Given the description of an element on the screen output the (x, y) to click on. 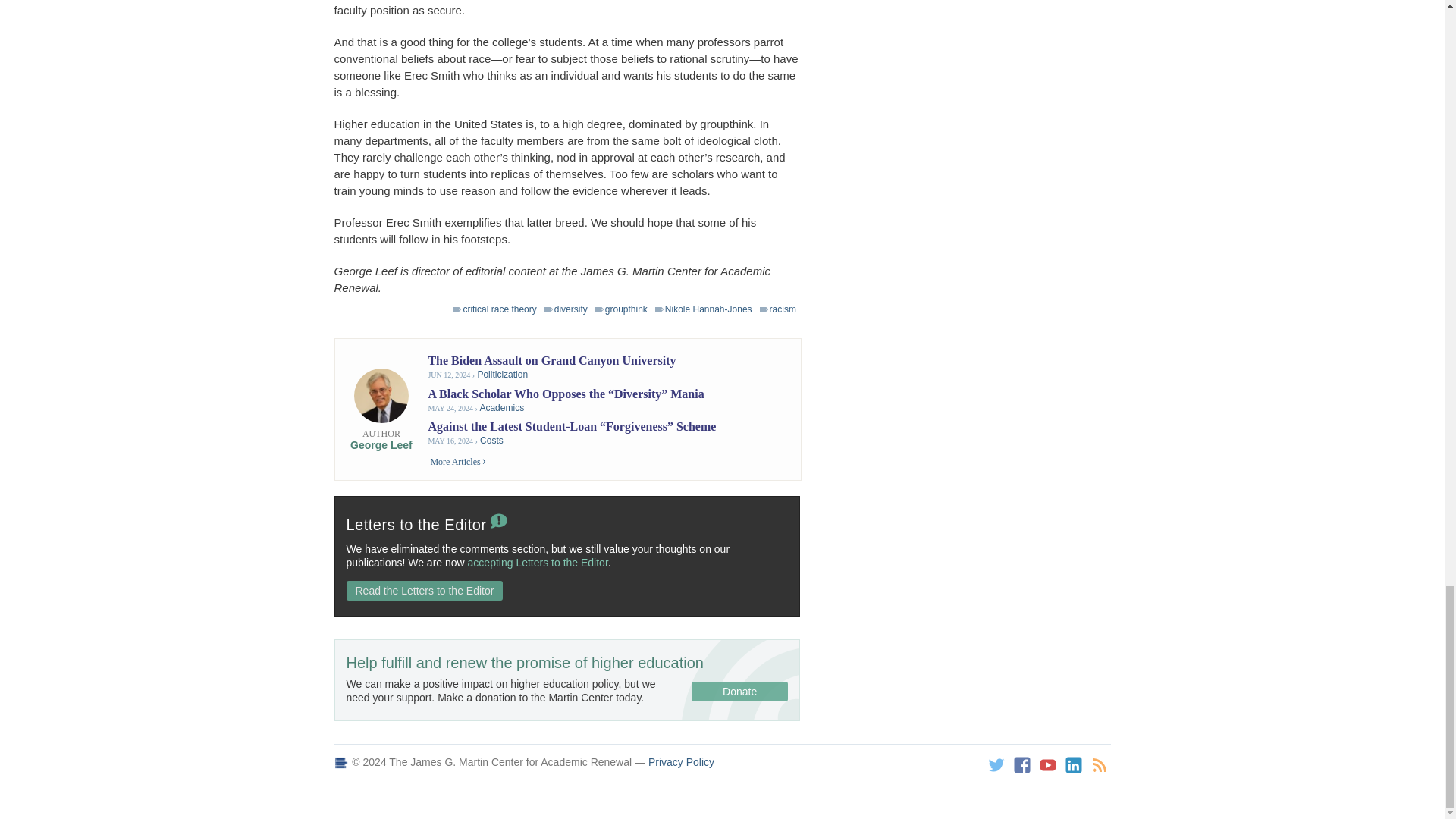
George Leef (381, 444)
diversity (566, 308)
racism (778, 308)
groupthink (621, 308)
critical race theory (493, 308)
Nikole Hannah-Jones (703, 308)
The Biden Assault on Grand Canyon University (551, 359)
